Given the description of an element on the screen output the (x, y) to click on. 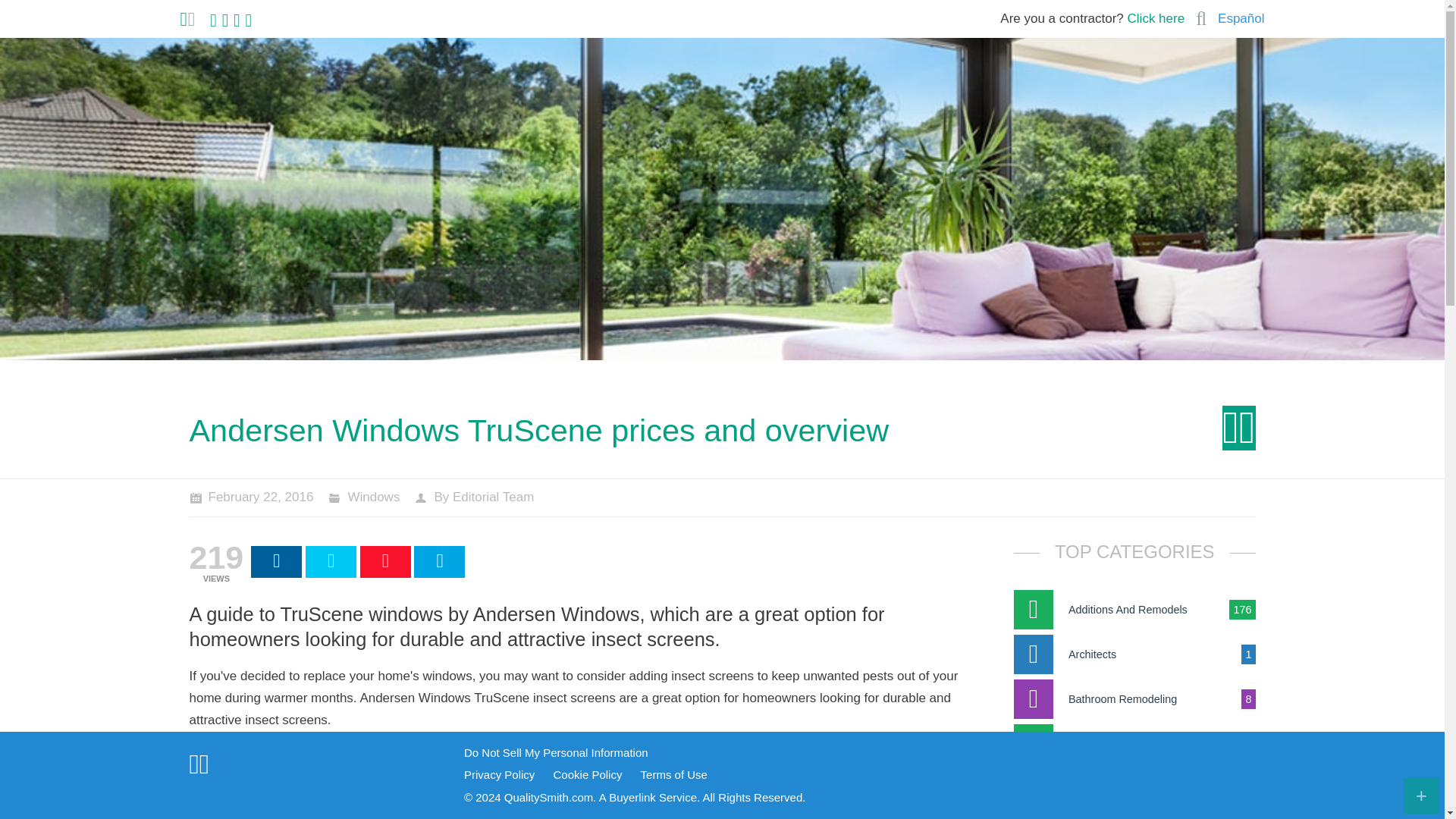
Windows (372, 496)
Additions And Remodels 176 (1134, 609)
Cabinets And Countertops 1 (1134, 743)
Click here (1155, 18)
Bathroom Remodeling 8 (1134, 699)
Doors 3 (1134, 816)
Concrete And Masonry 3 (1134, 788)
Architects 1 (1134, 654)
